Given the description of an element on the screen output the (x, y) to click on. 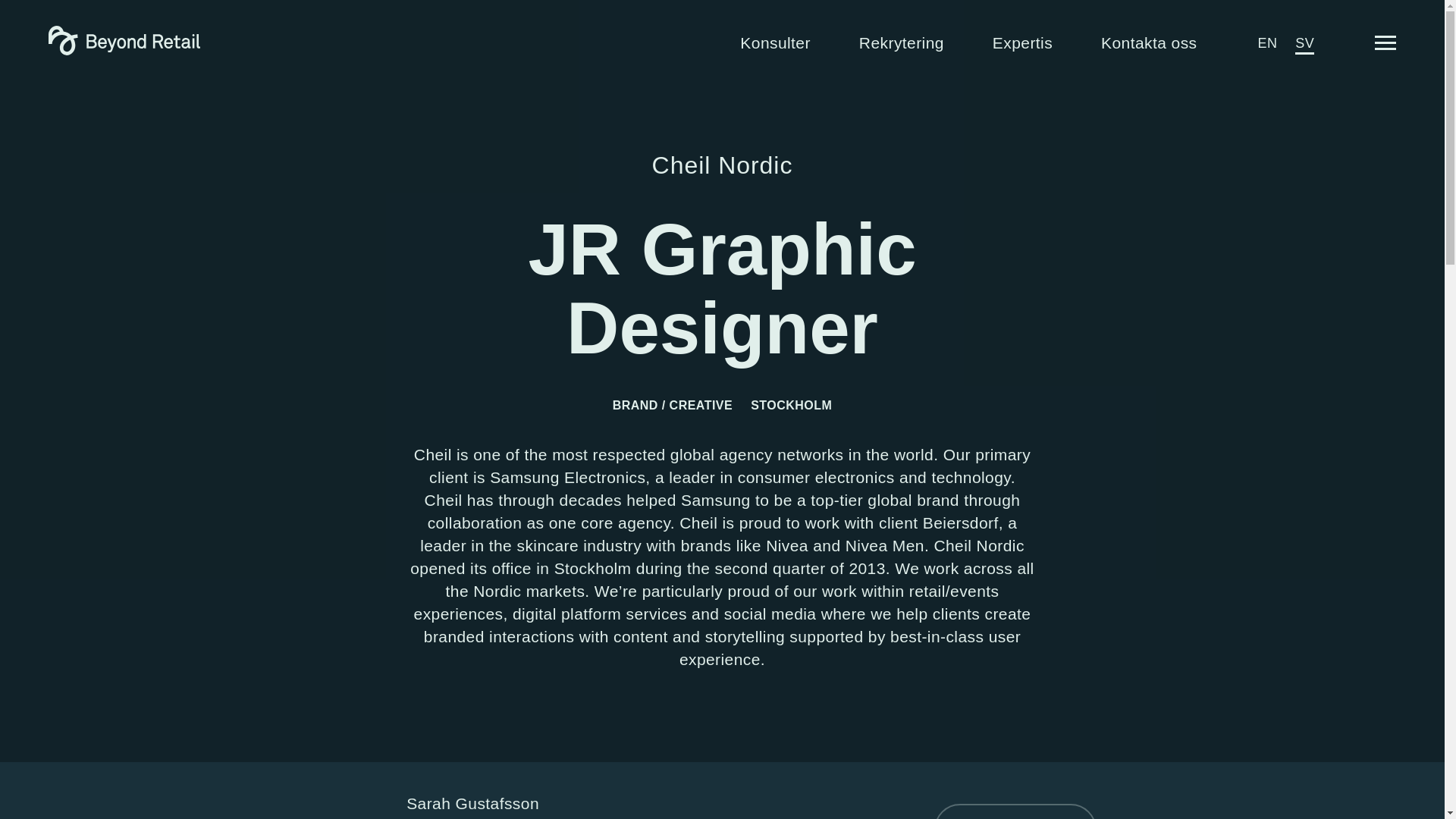
EN (1267, 43)
Konsulter (774, 43)
SV (1304, 43)
Rekrytering (901, 43)
Kontakta oss (1148, 43)
Expertis (1022, 43)
